Given the description of an element on the screen output the (x, y) to click on. 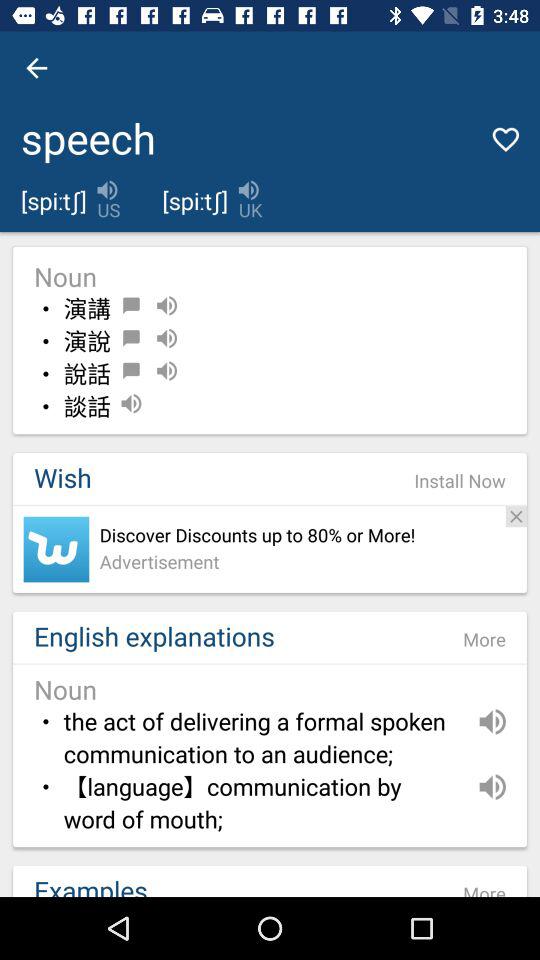
click on more which is at the bottom right corner of the page (484, 884)
click on the heart icon at the top right (505, 139)
the third message icon from the top (131, 370)
click on the third sound icon below the noun (167, 370)
go to the second message icon from top of the page (131, 338)
